Given the description of an element on the screen output the (x, y) to click on. 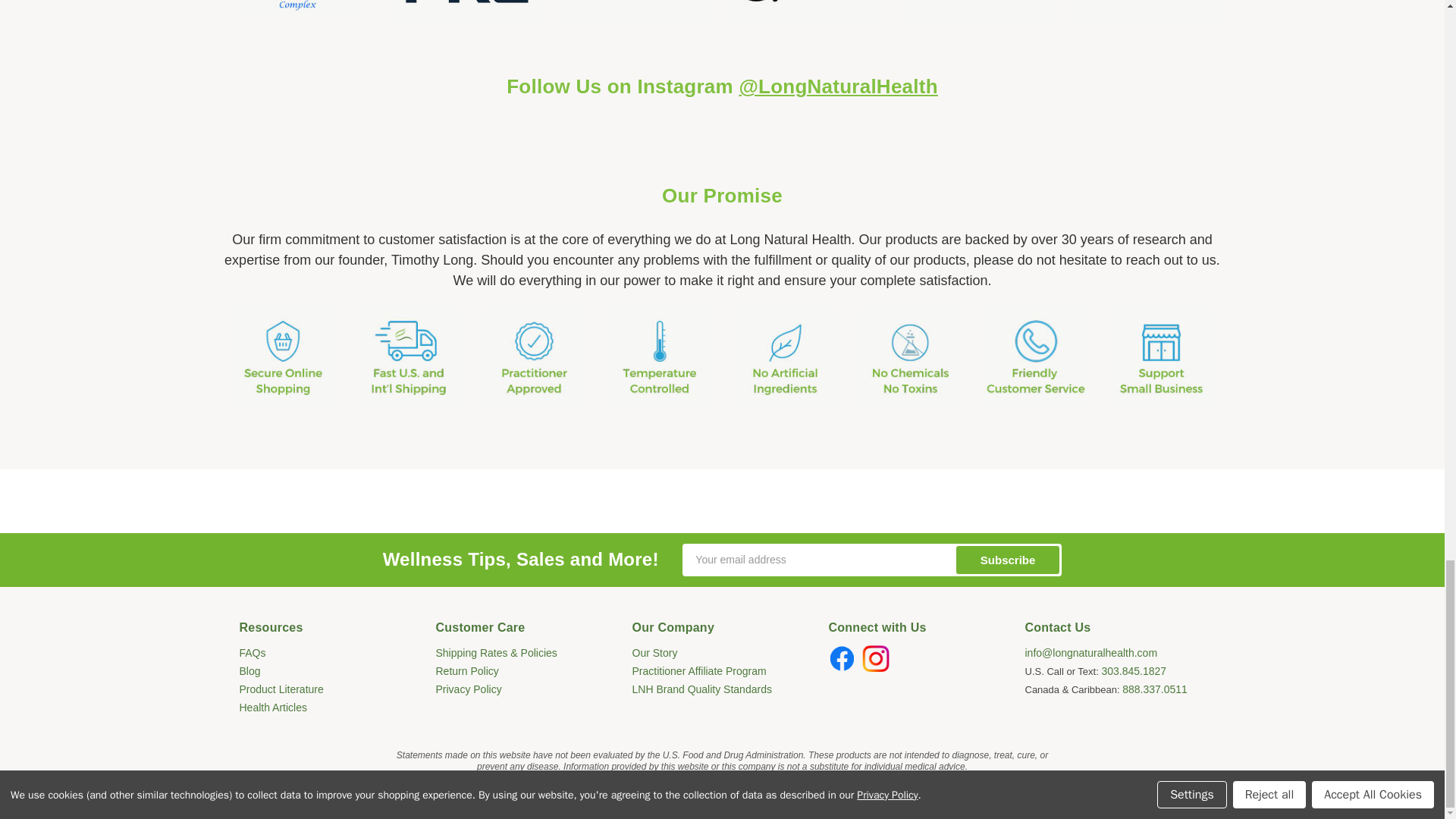
Subscribe (1008, 559)
